Given the description of an element on the screen output the (x, y) to click on. 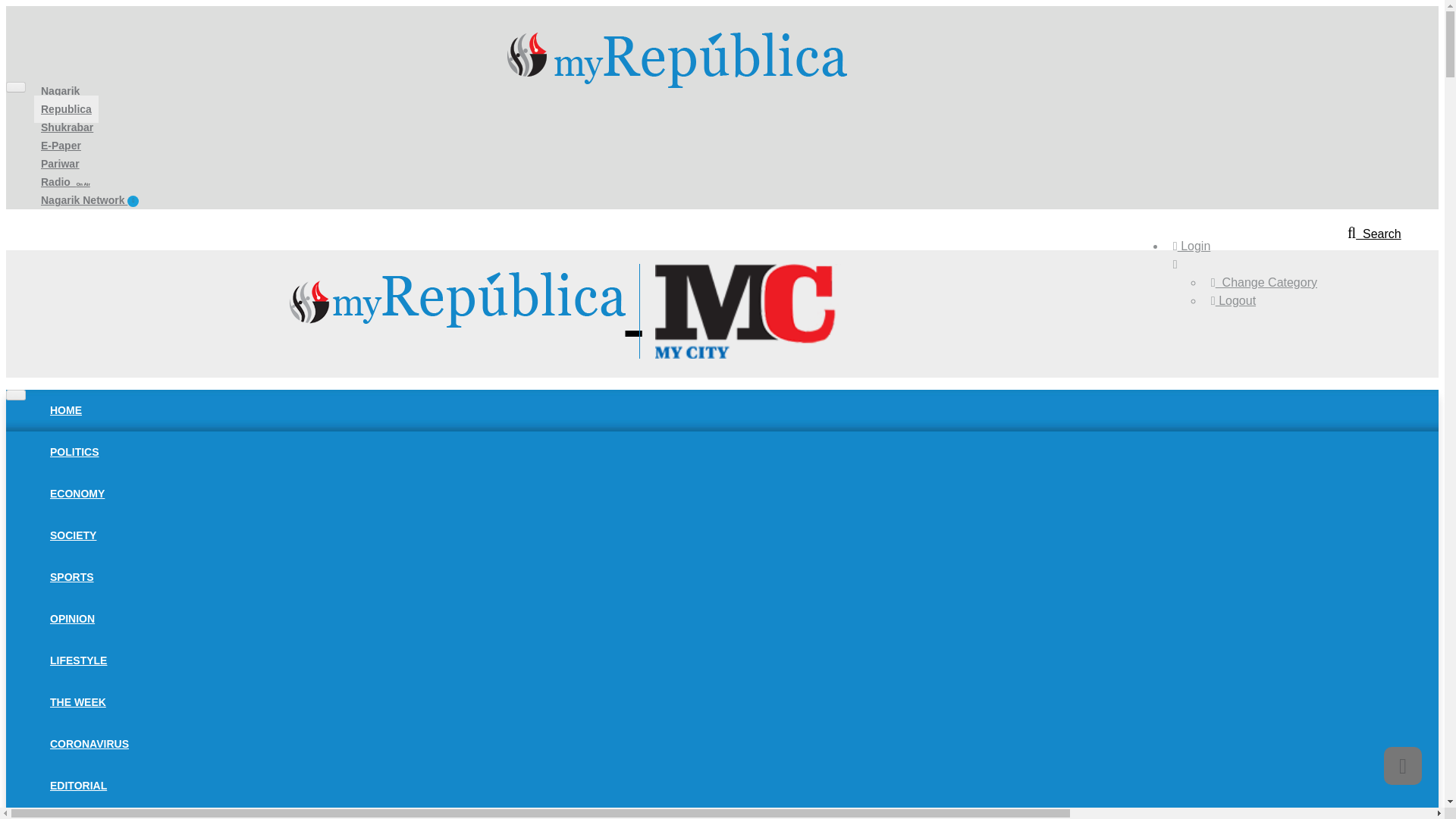
THE WEEK (78, 702)
Query Your News (1374, 233)
Logout (1233, 300)
LIFESTYLE (78, 660)
Toggle Navigation (15, 86)
Pariwar (59, 163)
  Change Category (1264, 282)
OPINION (72, 618)
ECONOMY (76, 493)
SPORTS (71, 576)
